Given the description of an element on the screen output the (x, y) to click on. 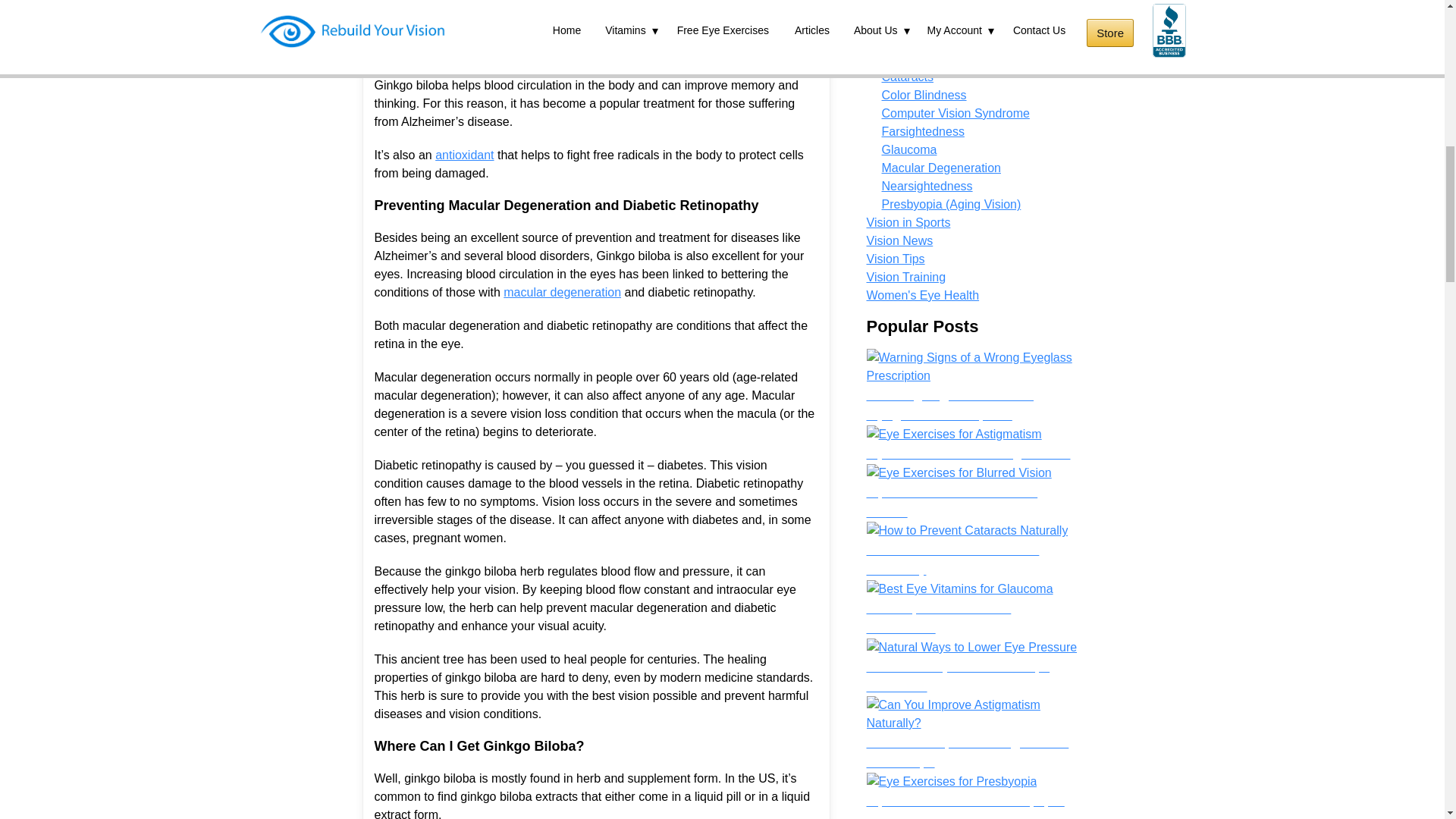
antioxidant (464, 154)
macular degeneration (562, 291)
